Given the description of an element on the screen output the (x, y) to click on. 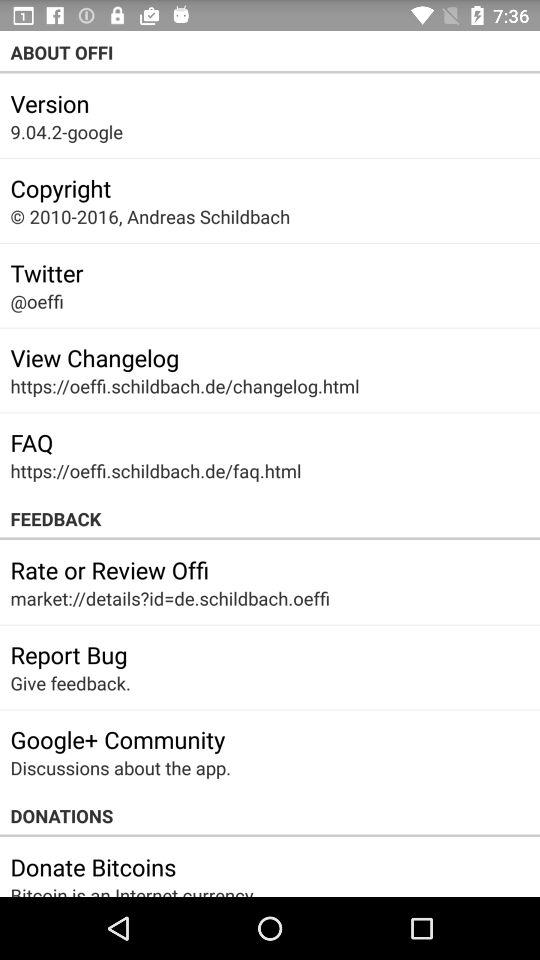
scroll to the discussions about the app (120, 767)
